Given the description of an element on the screen output the (x, y) to click on. 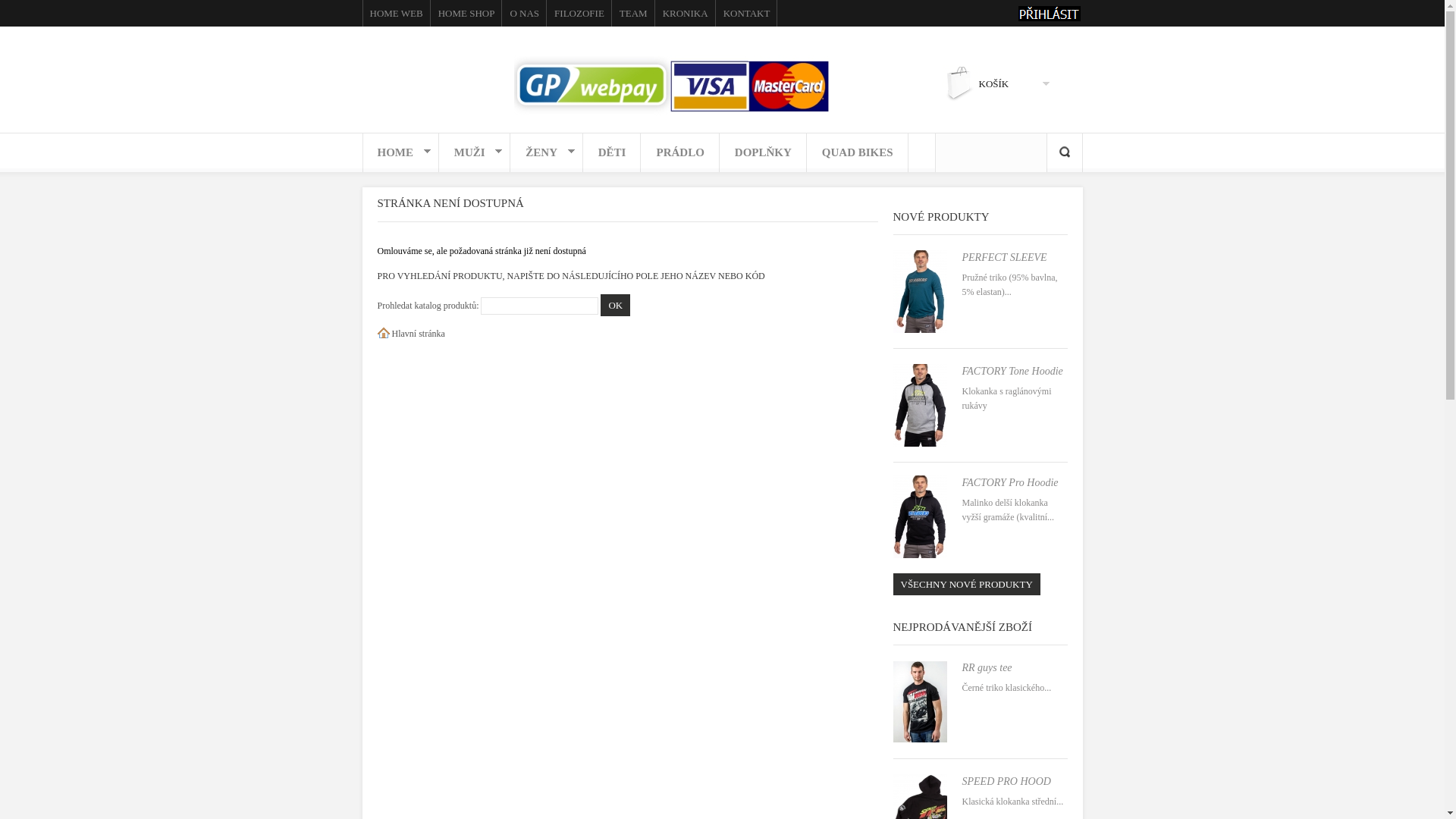
O NAS Element type: text (524, 13)
FACTORY Tone Hoodie Element type: text (1011, 370)
HOME WEB Element type: text (396, 13)
PERFECT SLEEVE Element type: text (1003, 257)
OK Element type: text (615, 305)
RR guys tee Element type: text (986, 667)
SPEED PRO HOOD Element type: text (1005, 781)
KRONIKA Element type: text (685, 13)
KONTAKT Element type: text (746, 13)
TEAM Element type: text (633, 13)
QUAD BIKES Element type: text (857, 153)
FILOZOFIE Element type: text (578, 13)
FACTORY Pro Hoodie Element type: text (1009, 482)
HOME SHOP Element type: text (466, 13)
101 Boutique Element type: hover (588, 78)
